Given the description of an element on the screen output the (x, y) to click on. 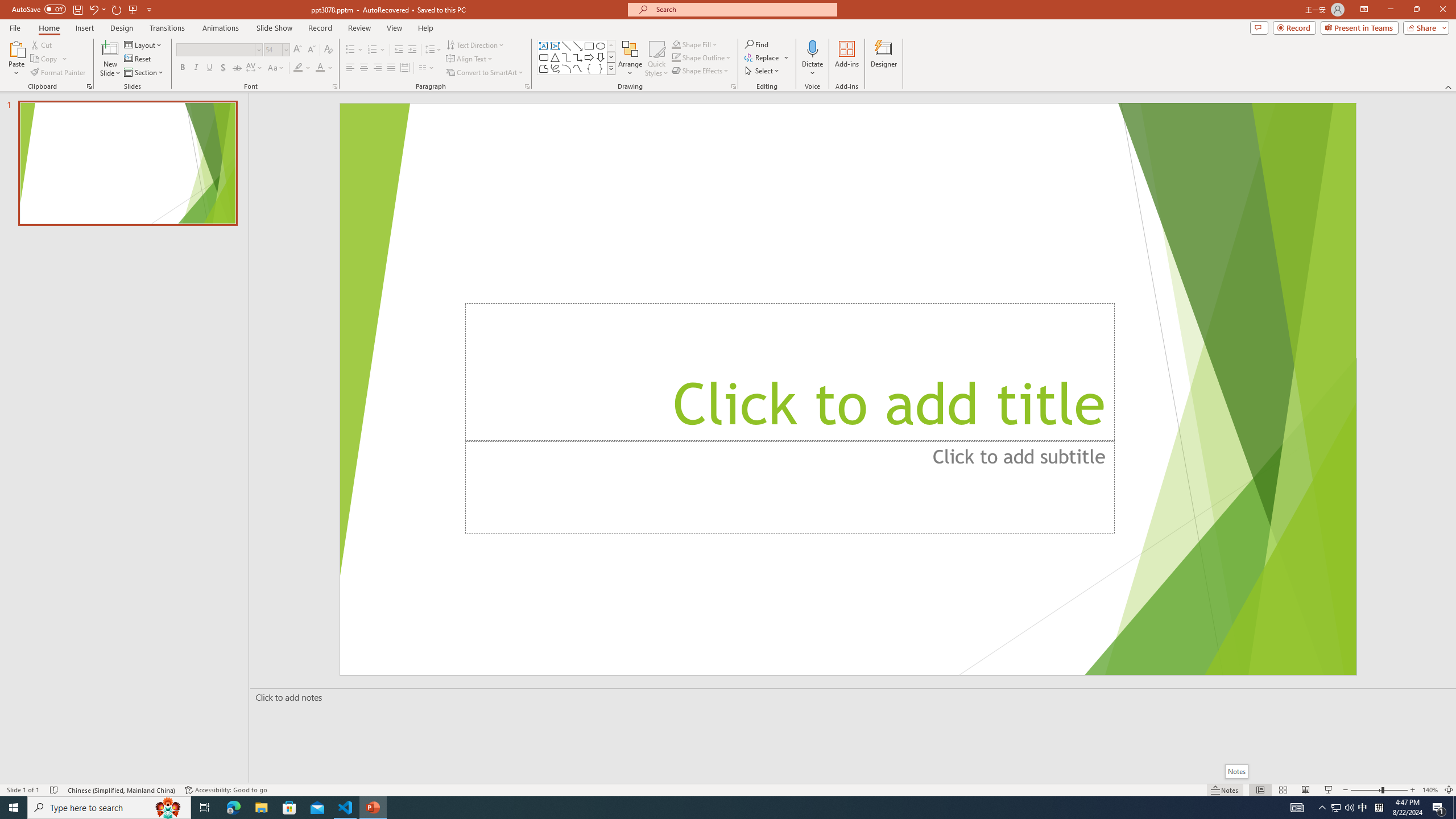
Shape Outline Green, Accent 1 (675, 56)
